Given the description of an element on the screen output the (x, y) to click on. 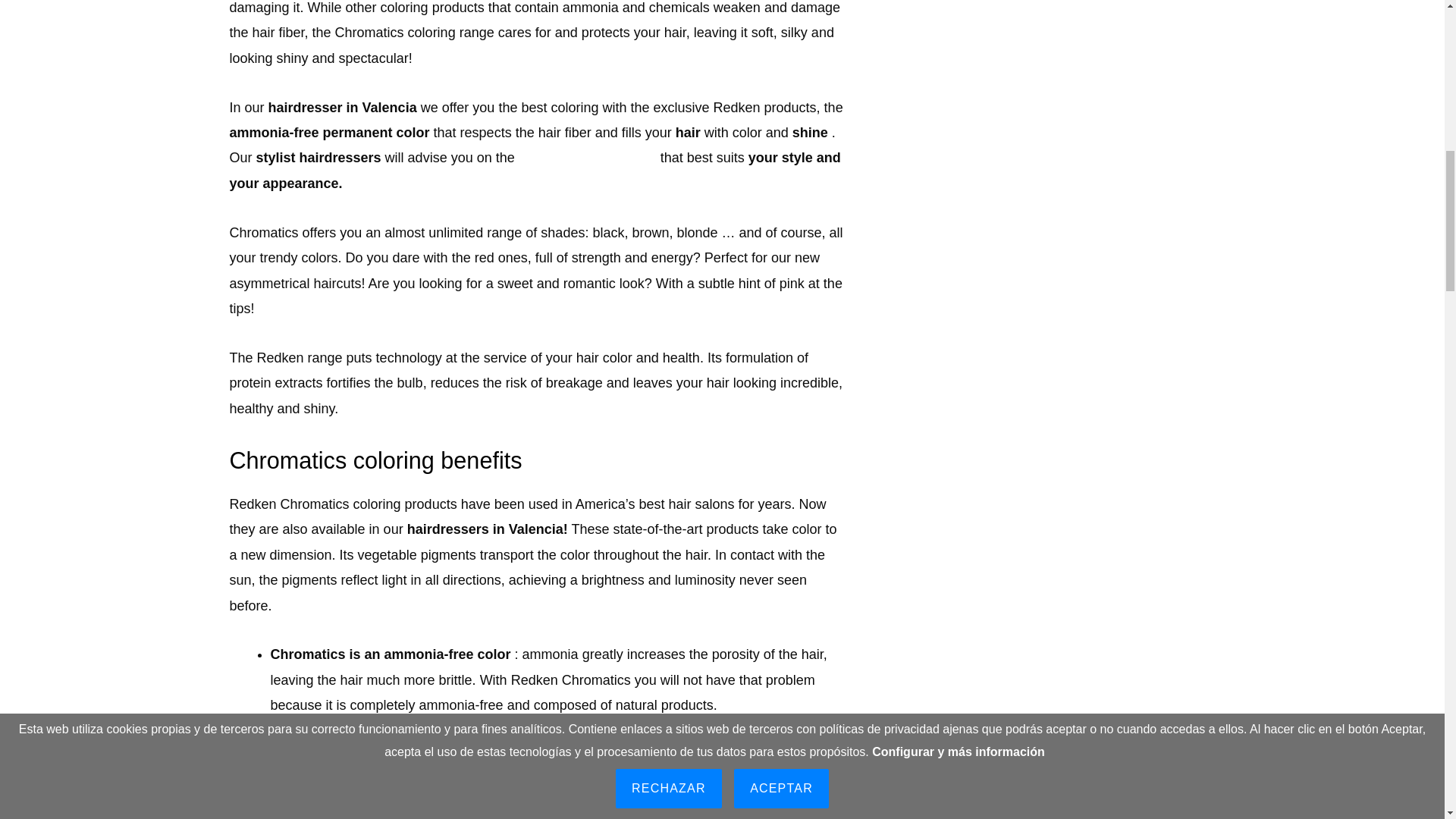
Estilismos (587, 157)
